Given the description of an element on the screen output the (x, y) to click on. 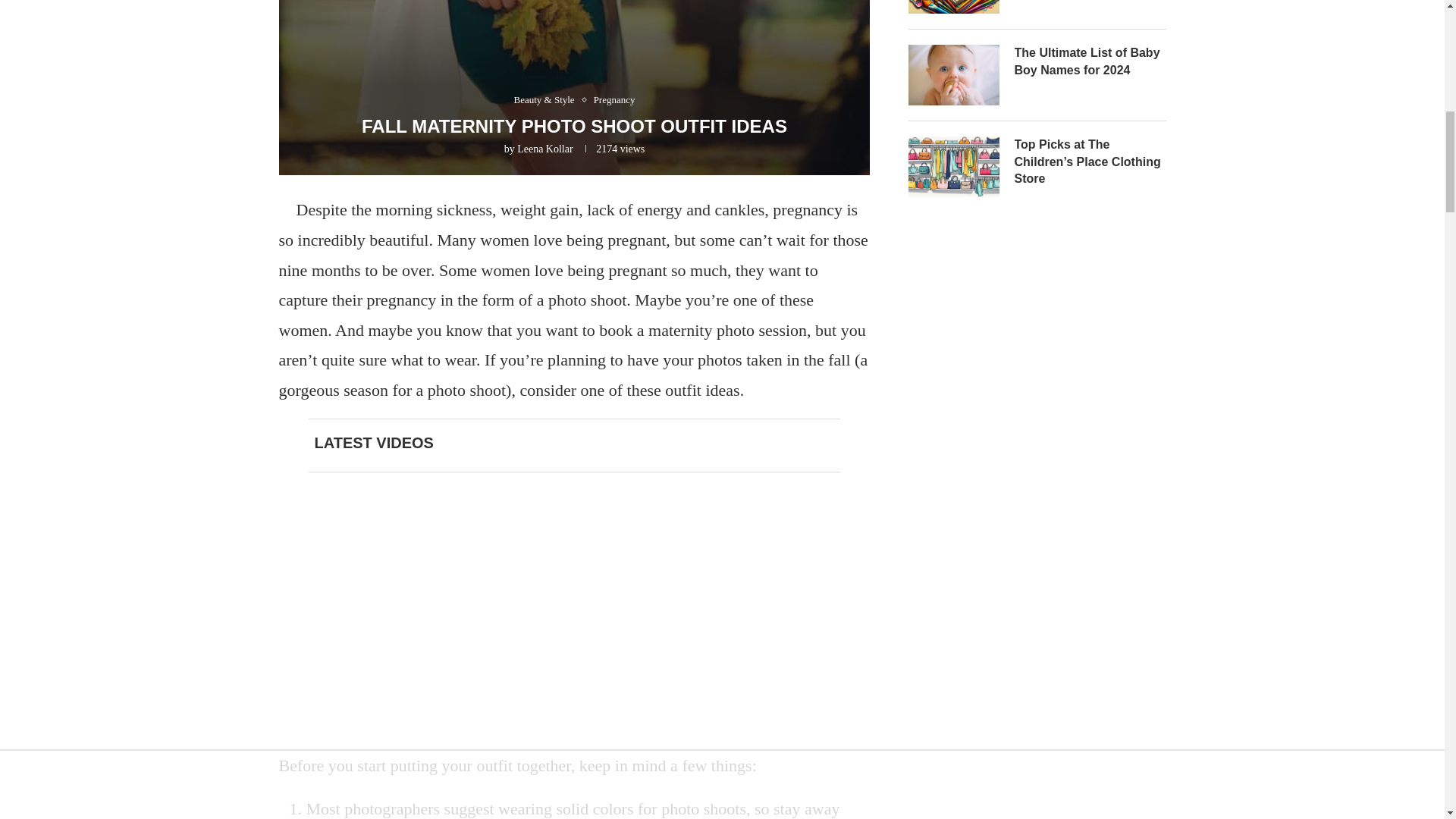
Leena Kollar (544, 148)
Pregnancy (614, 100)
